Given the description of an element on the screen output the (x, y) to click on. 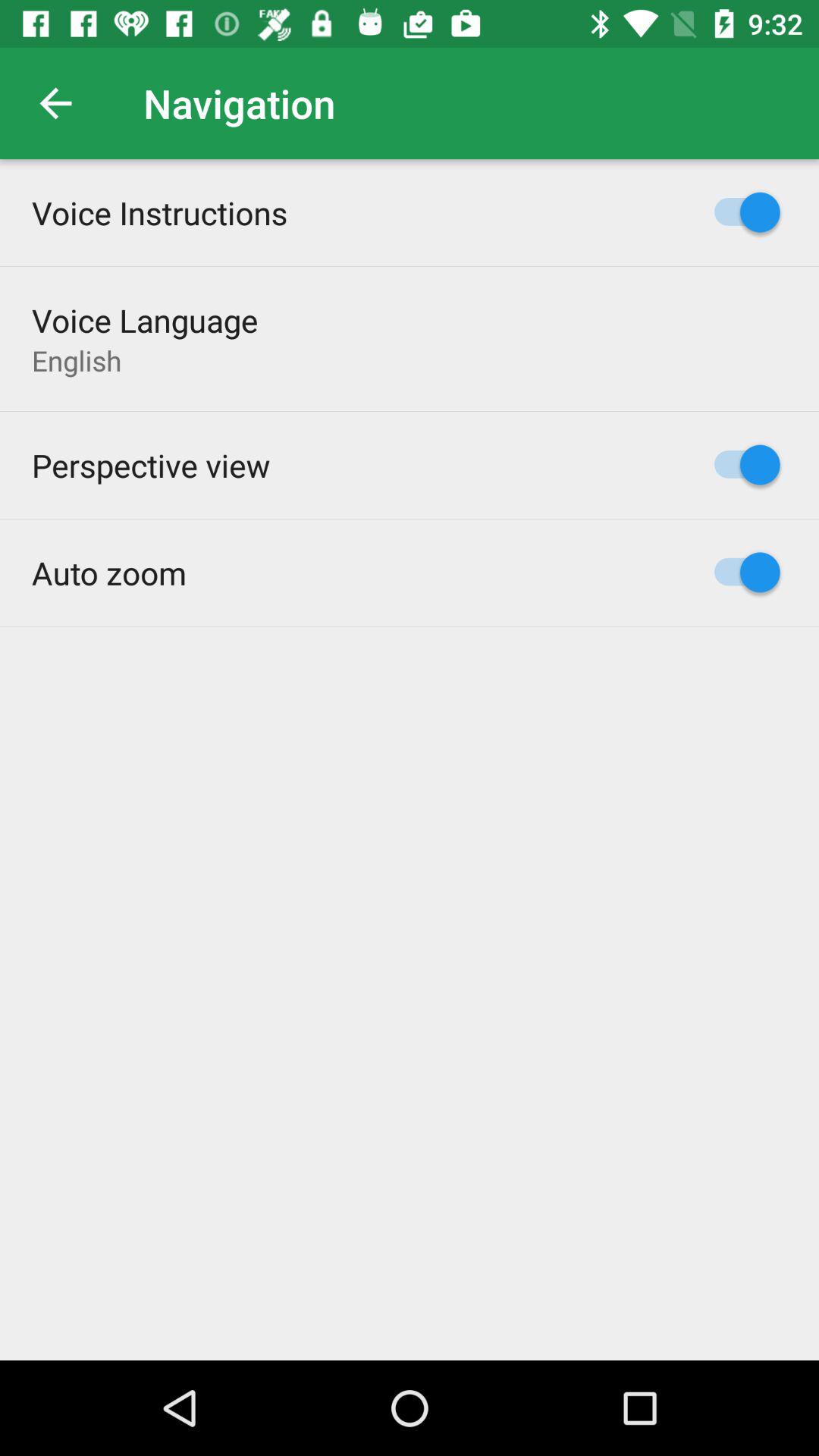
click the icon above voice instructions (55, 103)
